Given the description of an element on the screen output the (x, y) to click on. 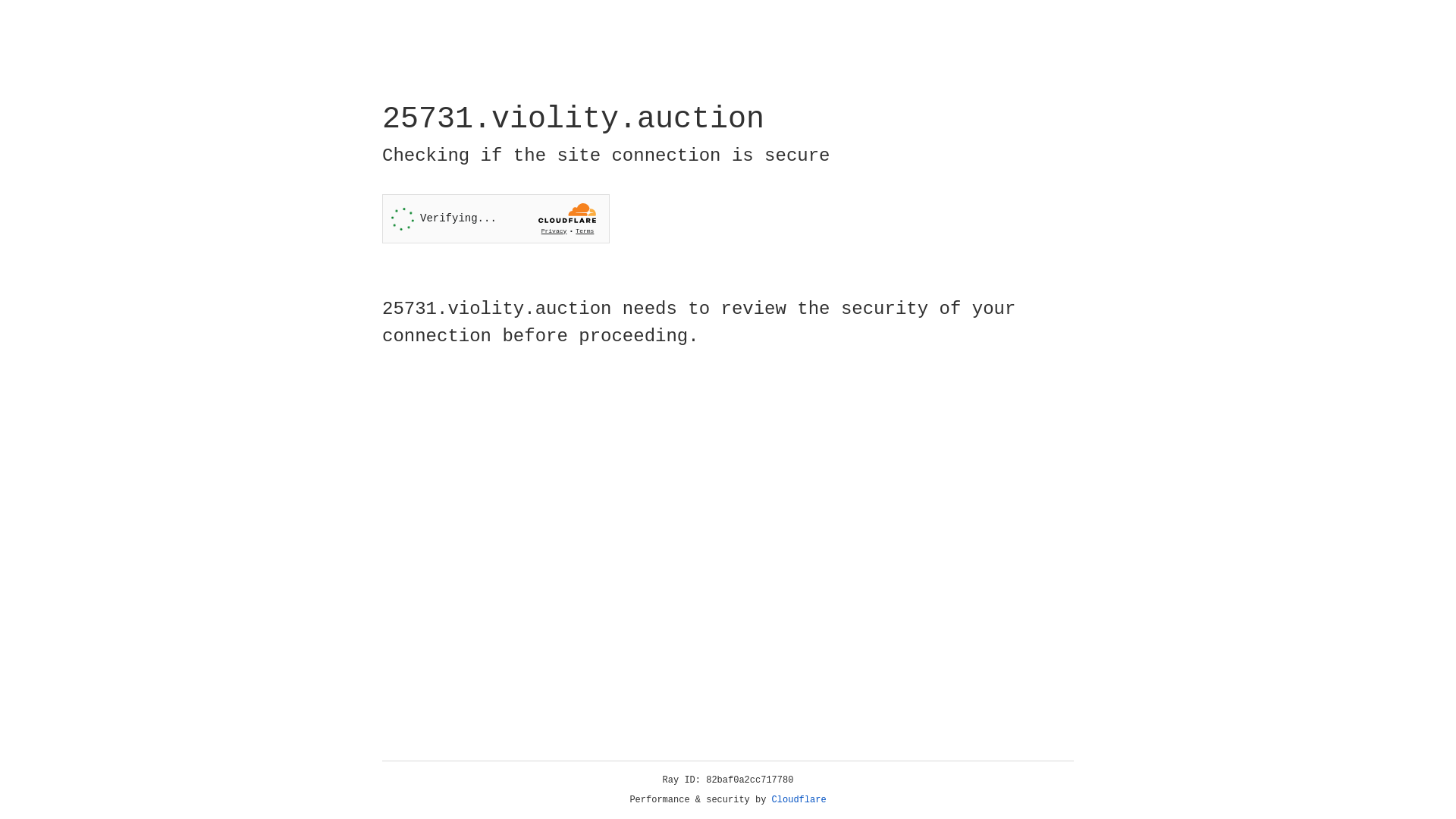
Widget containing a Cloudflare security challenge Element type: hover (495, 218)
Cloudflare Element type: text (798, 799)
